Given the description of an element on the screen output the (x, y) to click on. 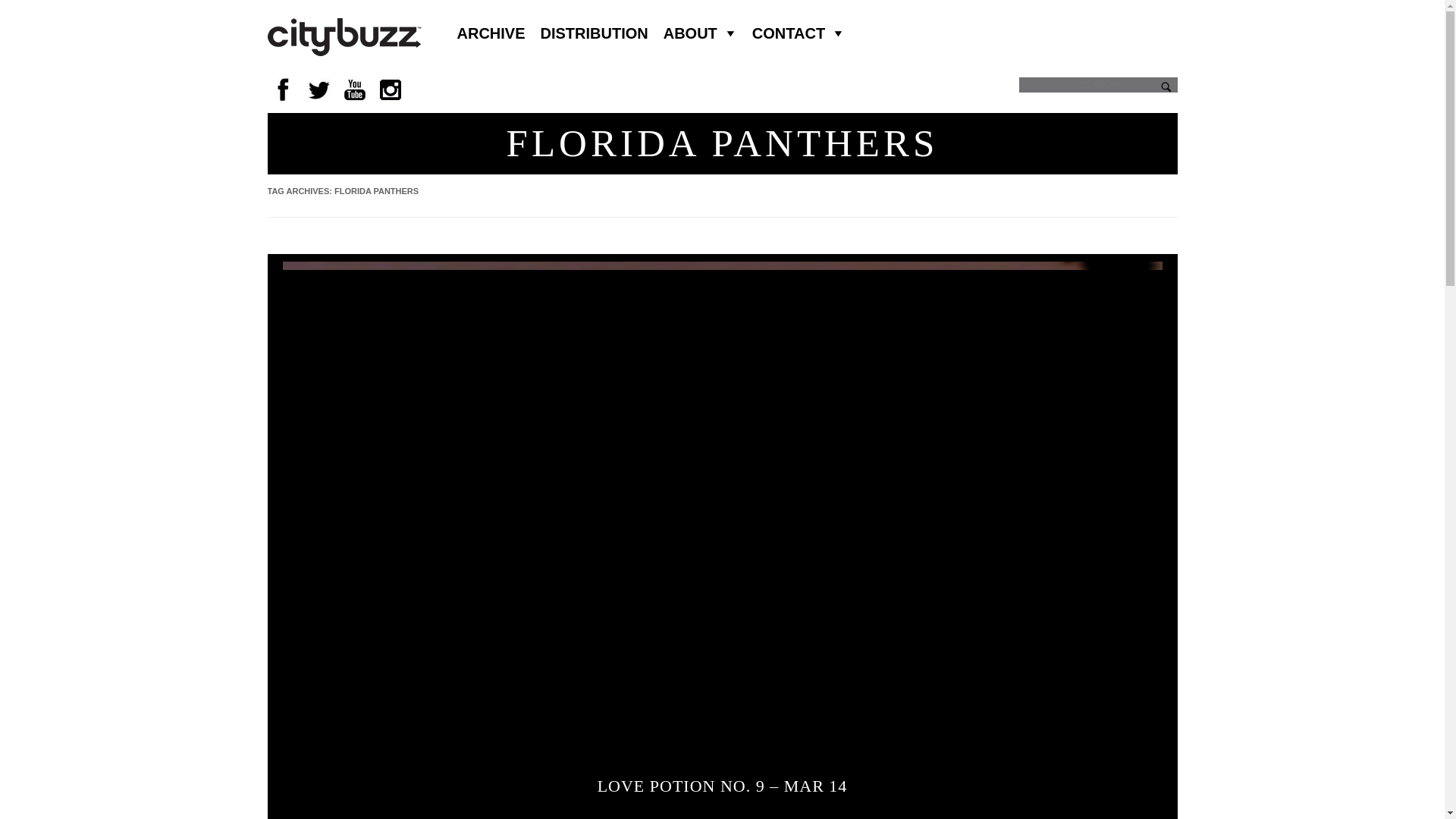
ARCHIVE (490, 33)
ABOUT (700, 33)
DISTRIBUTION (594, 33)
CONTACT (797, 33)
